Given the description of an element on the screen output the (x, y) to click on. 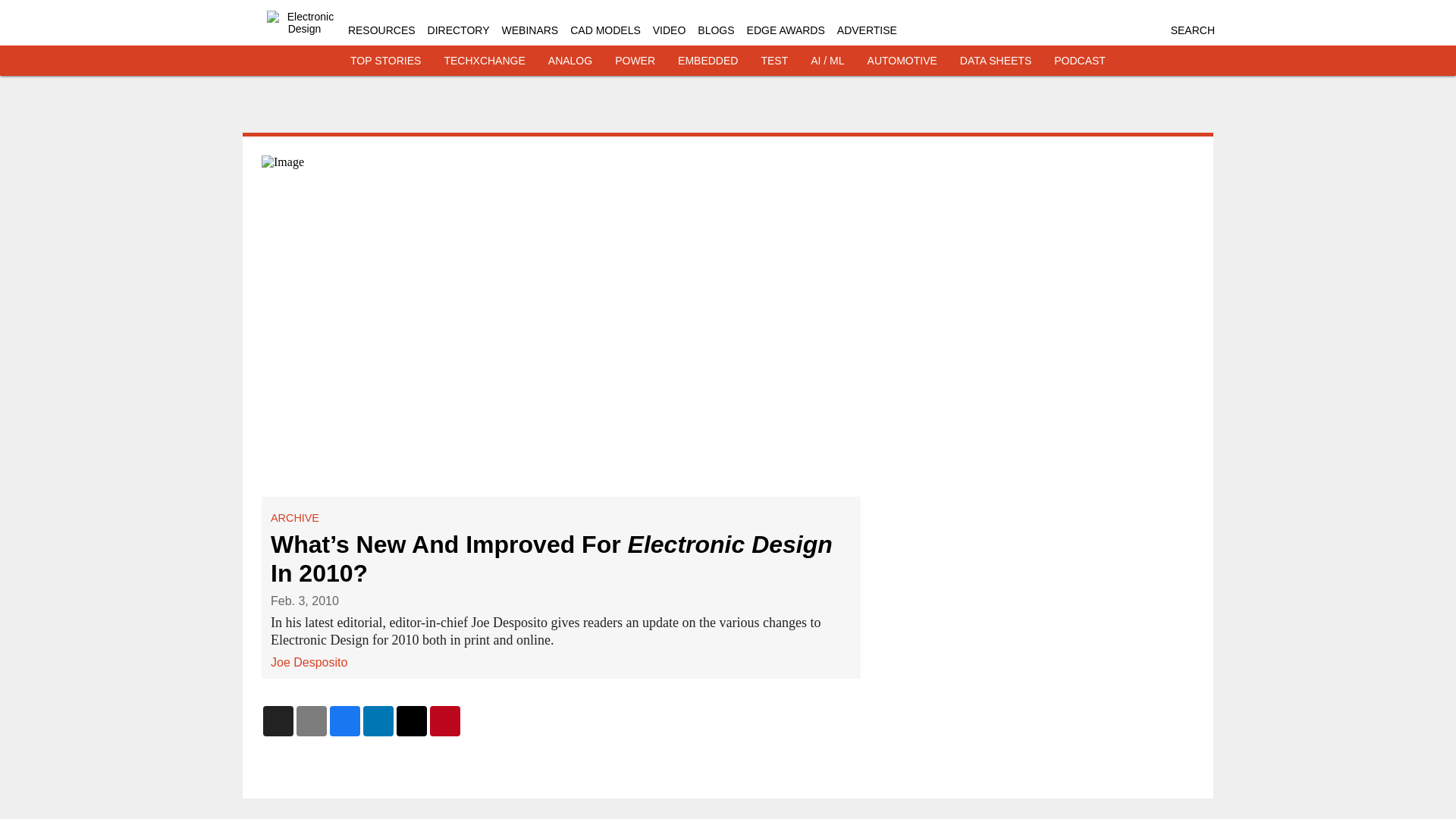
DATA SHEETS (994, 60)
ANALOG (570, 60)
PODCAST (1079, 60)
CAD MODELS (605, 30)
TECHXCHANGE (484, 60)
EMBEDDED (708, 60)
AUTOMOTIVE (902, 60)
TOP STORIES (385, 60)
WEBINARS (530, 30)
